Given the description of an element on the screen output the (x, y) to click on. 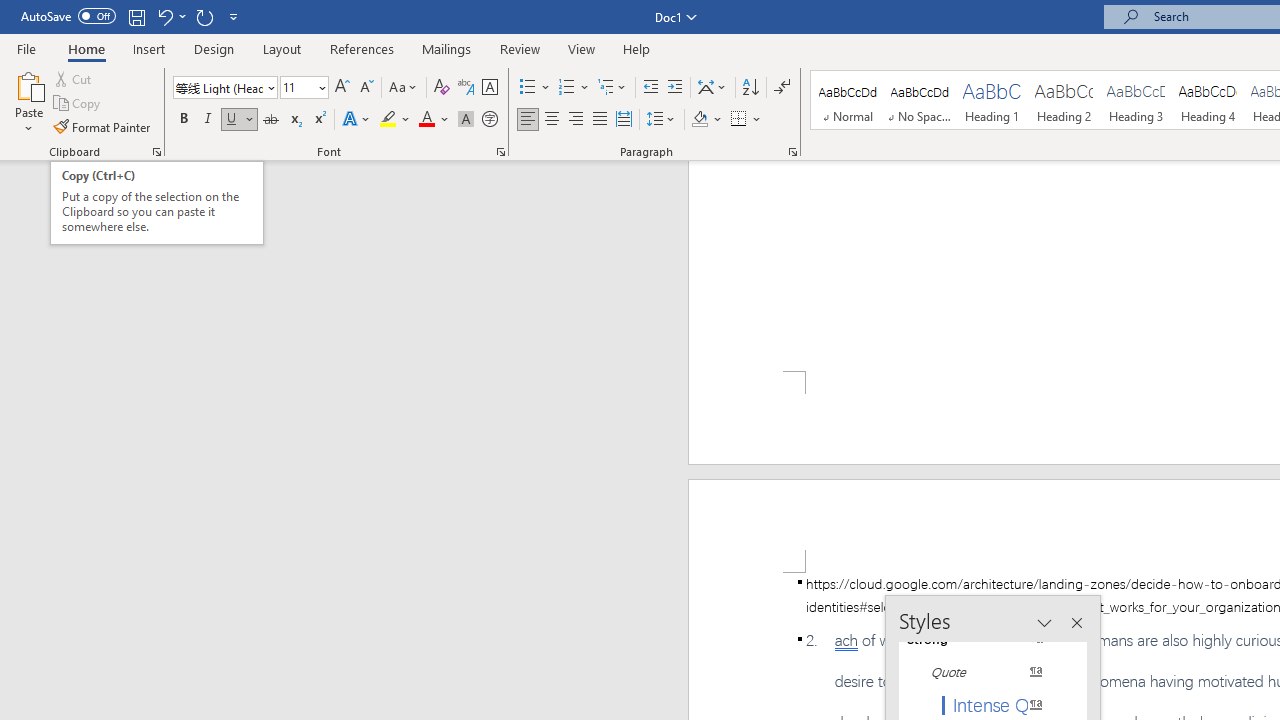
Strong (984, 638)
Font Color Automatic (426, 119)
